Given the description of an element on the screen output the (x, y) to click on. 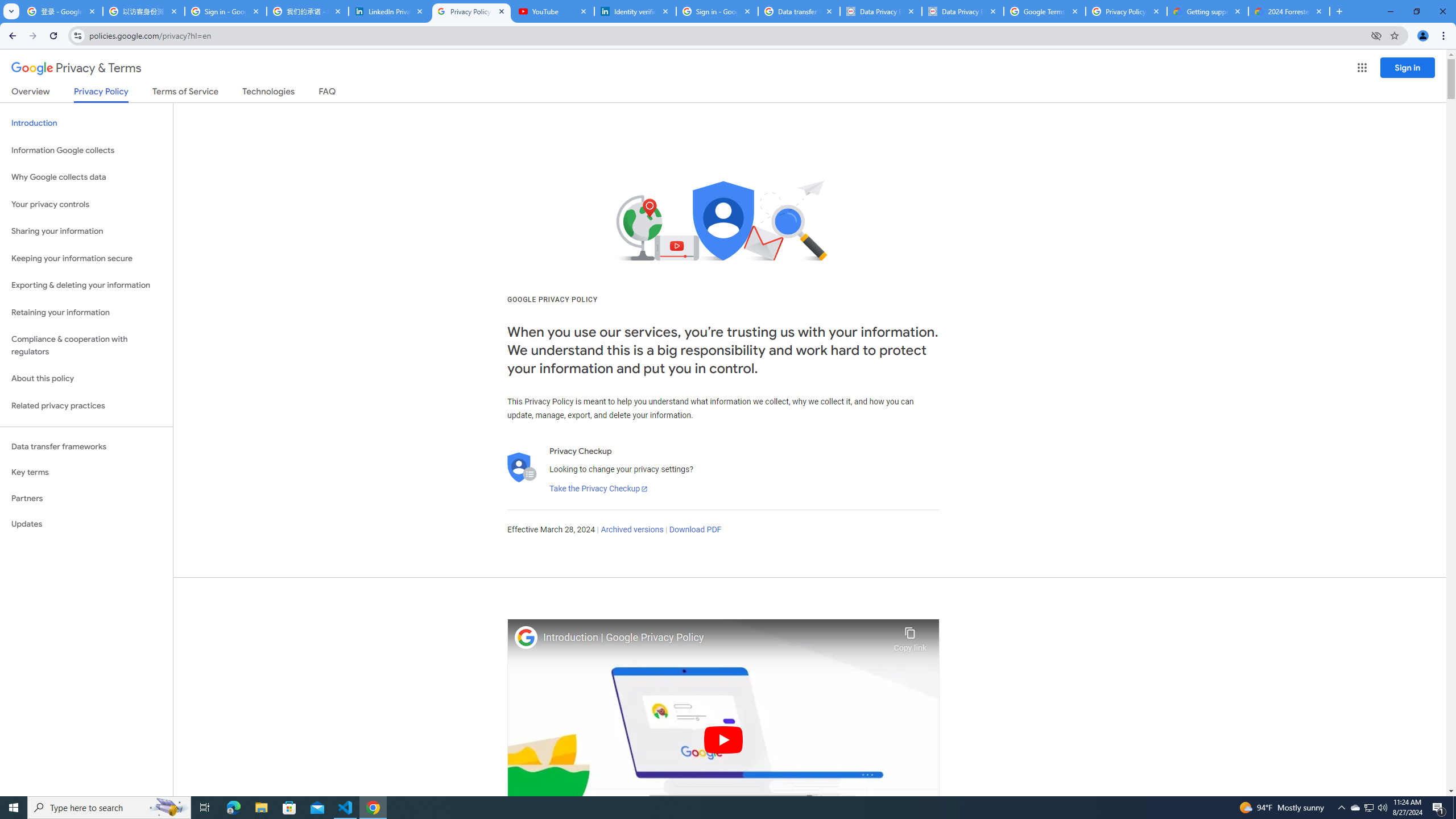
Sign in - Google Accounts (716, 11)
Play (723, 739)
Photo image of Google (526, 636)
Related privacy practices (86, 405)
LinkedIn Privacy Policy (389, 11)
